Given the description of an element on the screen output the (x, y) to click on. 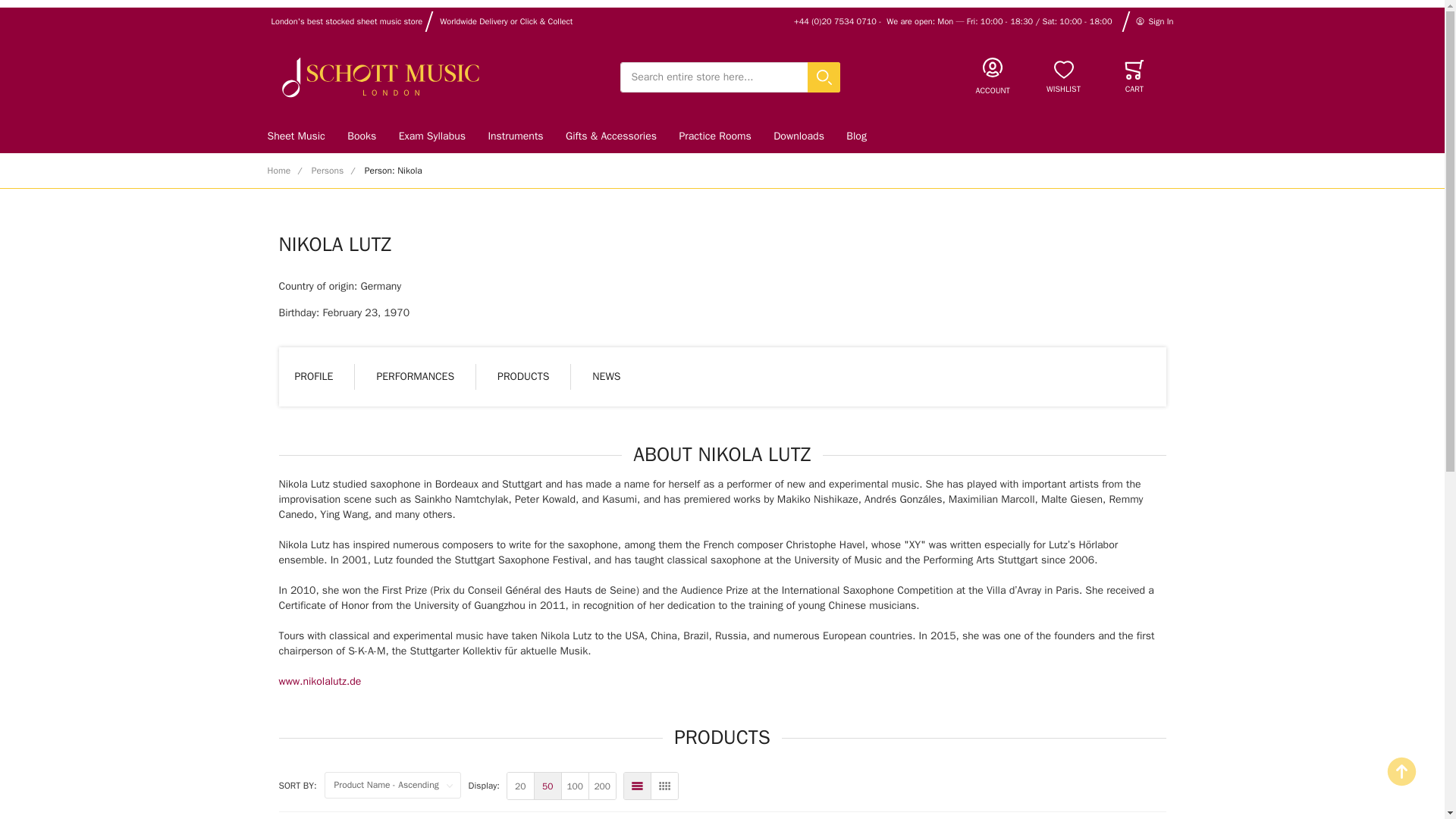
Grid (664, 786)
Sheet Music (301, 135)
WISHLIST (1063, 77)
ACCOUNT (992, 76)
List (637, 786)
Go to Home Page (277, 170)
Downloads (797, 135)
Exam Syllabus (432, 135)
Practice Rooms (715, 135)
Persons (327, 170)
